Given the description of an element on the screen output the (x, y) to click on. 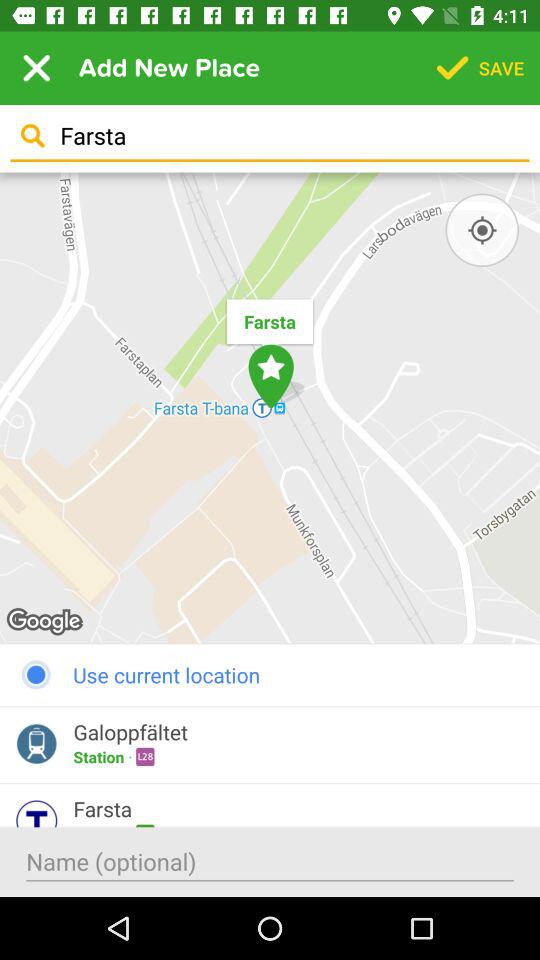
put a name in to the box to search for (270, 861)
